Given the description of an element on the screen output the (x, y) to click on. 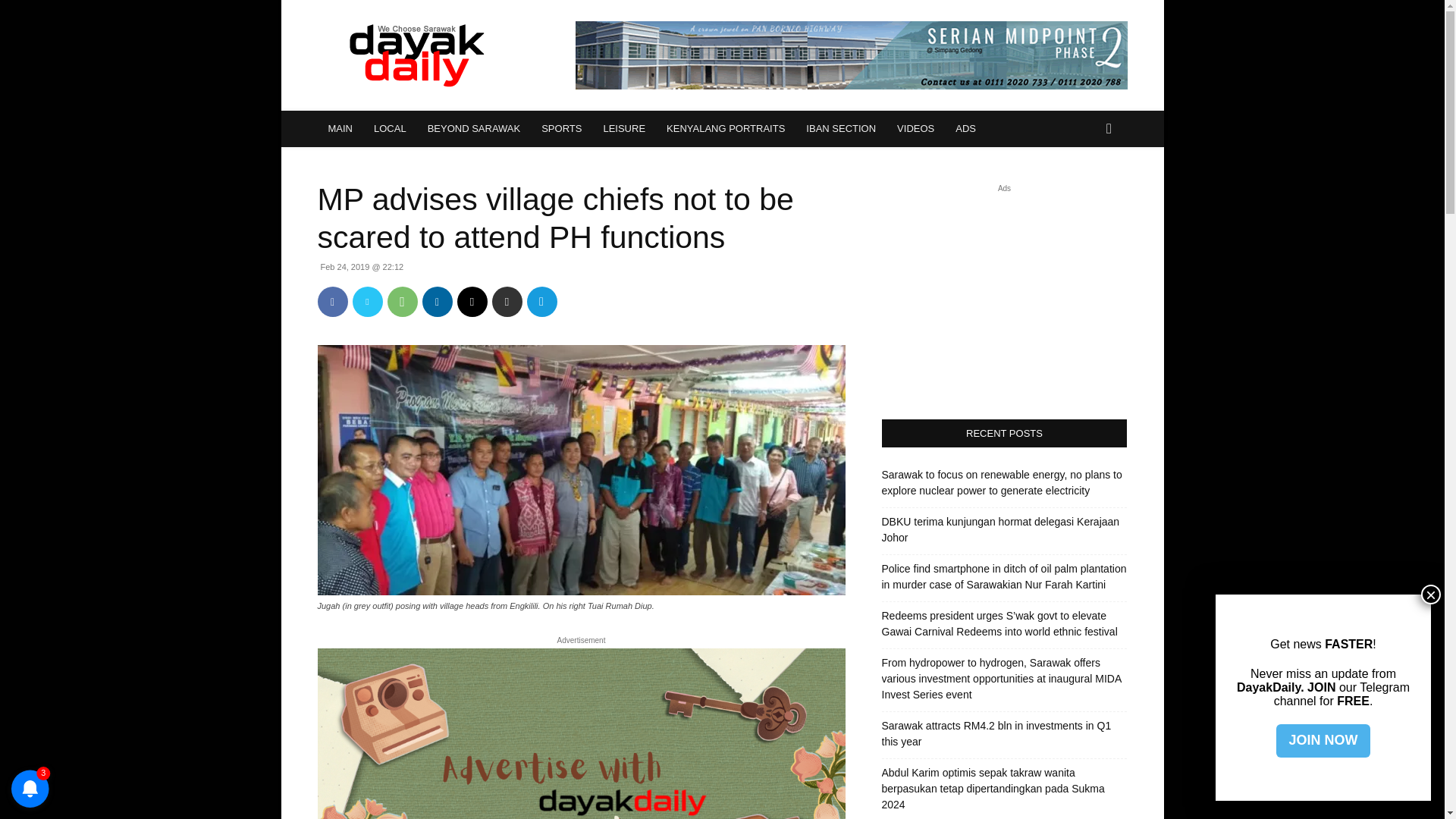
LEISURE (624, 128)
MAIN (339, 128)
BEYOND SARAWAK (473, 128)
SPORTS (561, 128)
Email (471, 301)
Print (506, 301)
Telegram (540, 301)
Facebook (332, 301)
Linkedin (436, 301)
IBAN SECTION (840, 128)
WhatsApp (401, 301)
Twitter (366, 301)
LOCAL (389, 128)
ADS (965, 128)
KENYALANG PORTRAITS (725, 128)
